Given the description of an element on the screen output the (x, y) to click on. 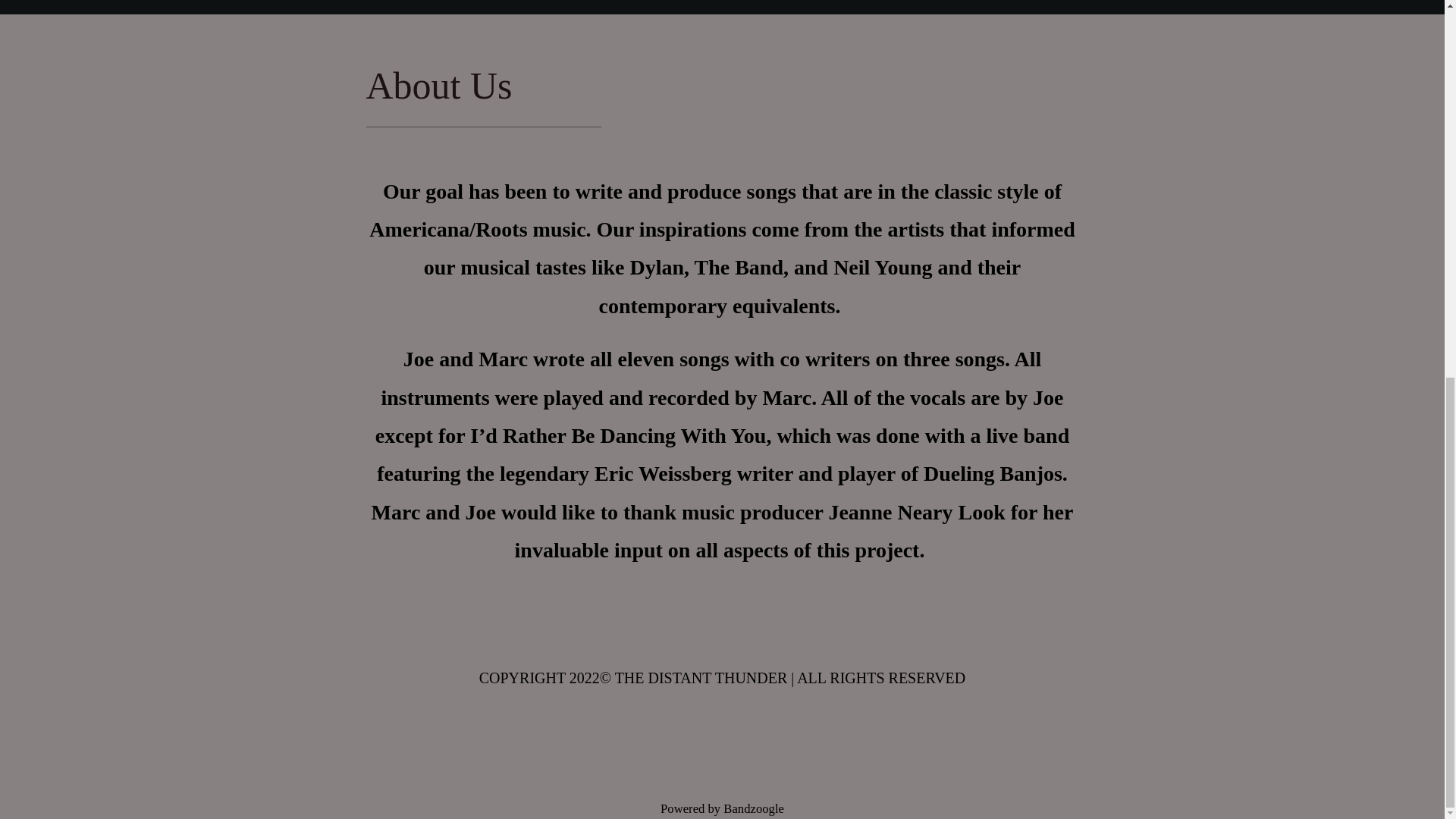
Powered by Bandzoogle (722, 808)
Powered by Bandzoogle (722, 808)
